Given the description of an element on the screen output the (x, y) to click on. 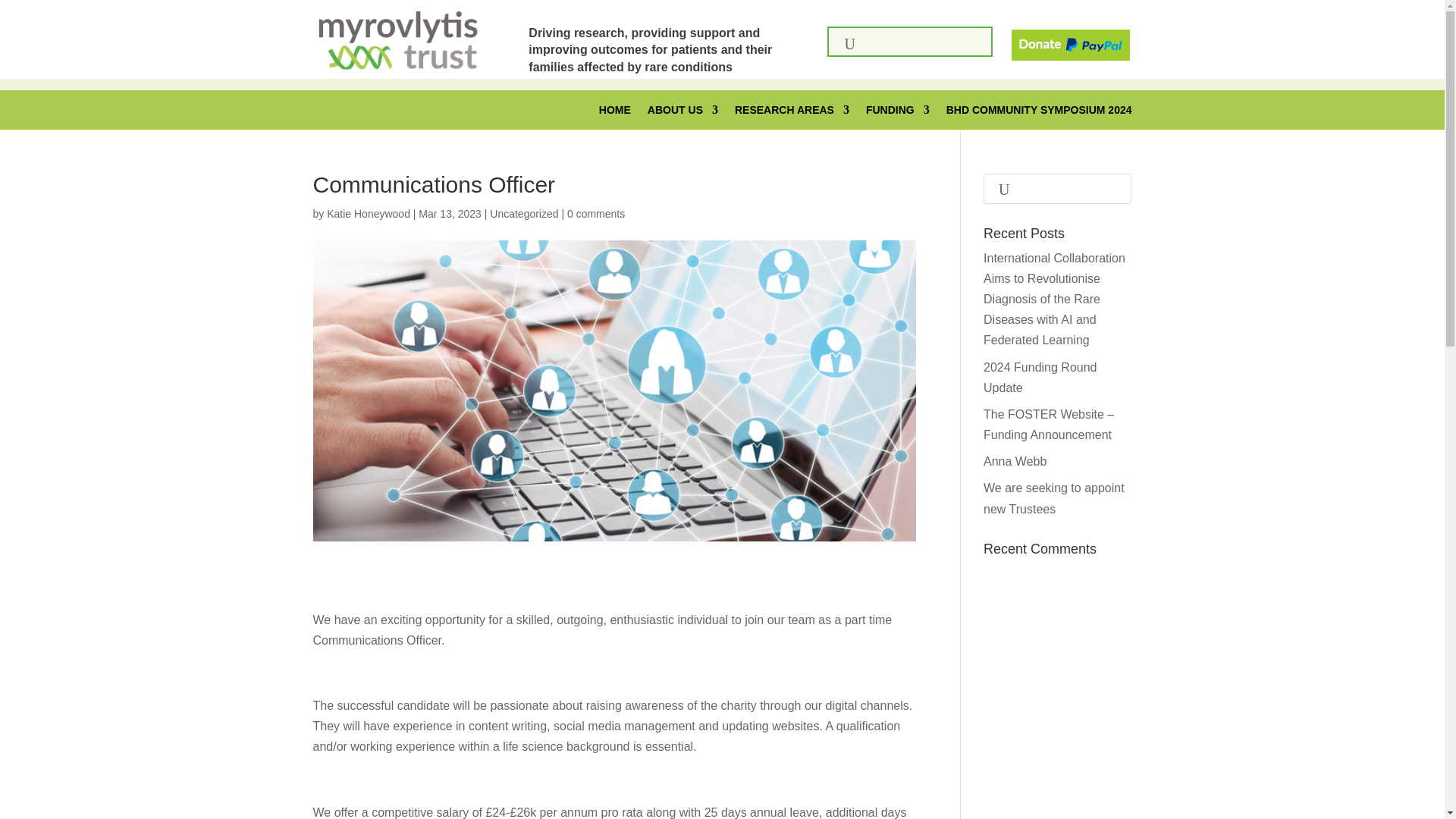
FUNDING (898, 112)
RESEARCH AREAS (791, 112)
HOME (614, 112)
Layer 43 (397, 40)
PayPal - The safer, easier way to pay online! (1070, 45)
ABOUT US (682, 112)
Search (1110, 188)
BHD COMMUNITY SYMPOSIUM 2024 (1039, 112)
Posts by Katie Honeywood (368, 214)
Search (21, 13)
